Given the description of an element on the screen output the (x, y) to click on. 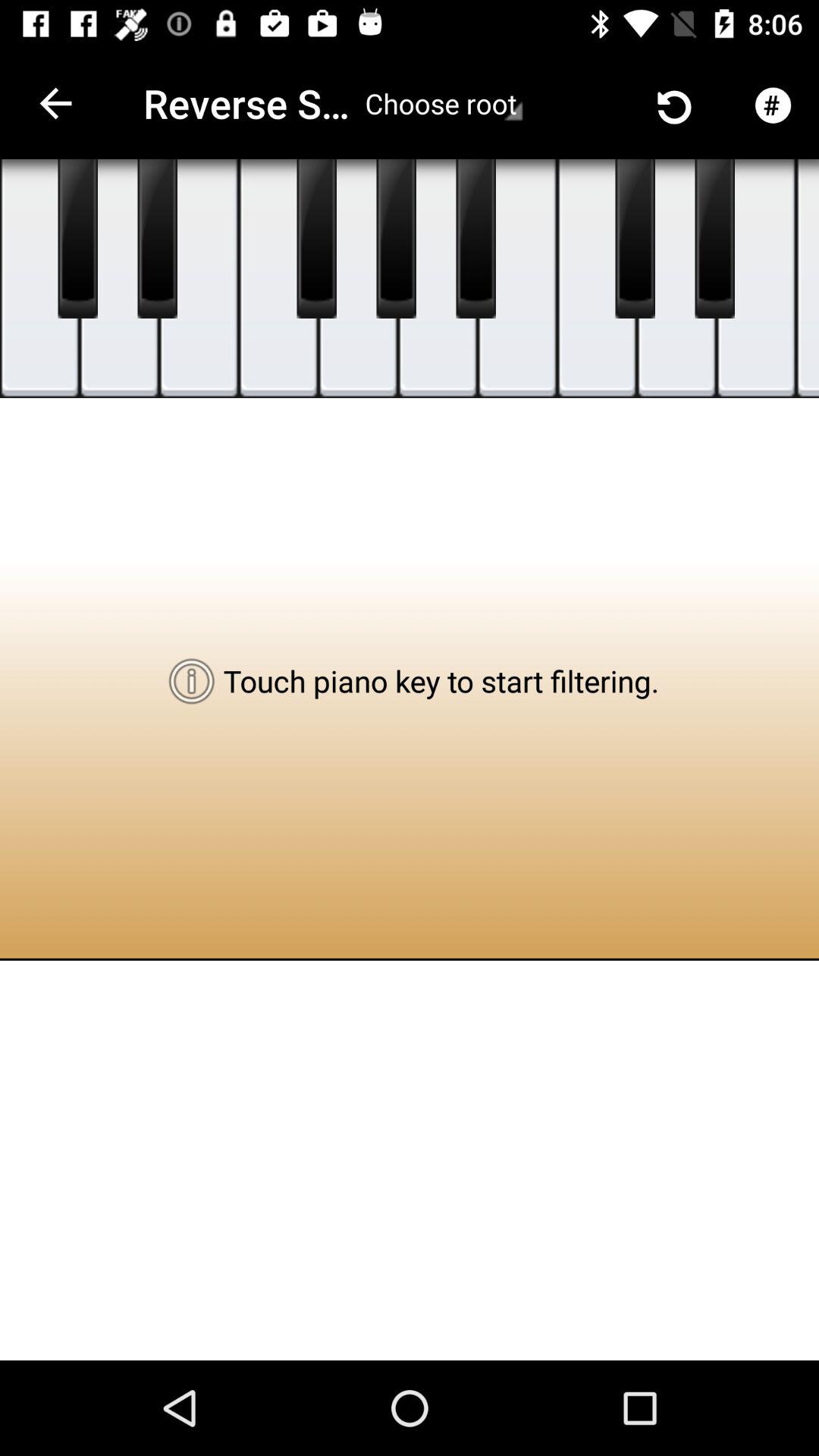
start filtering (676, 278)
